Given the description of an element on the screen output the (x, y) to click on. 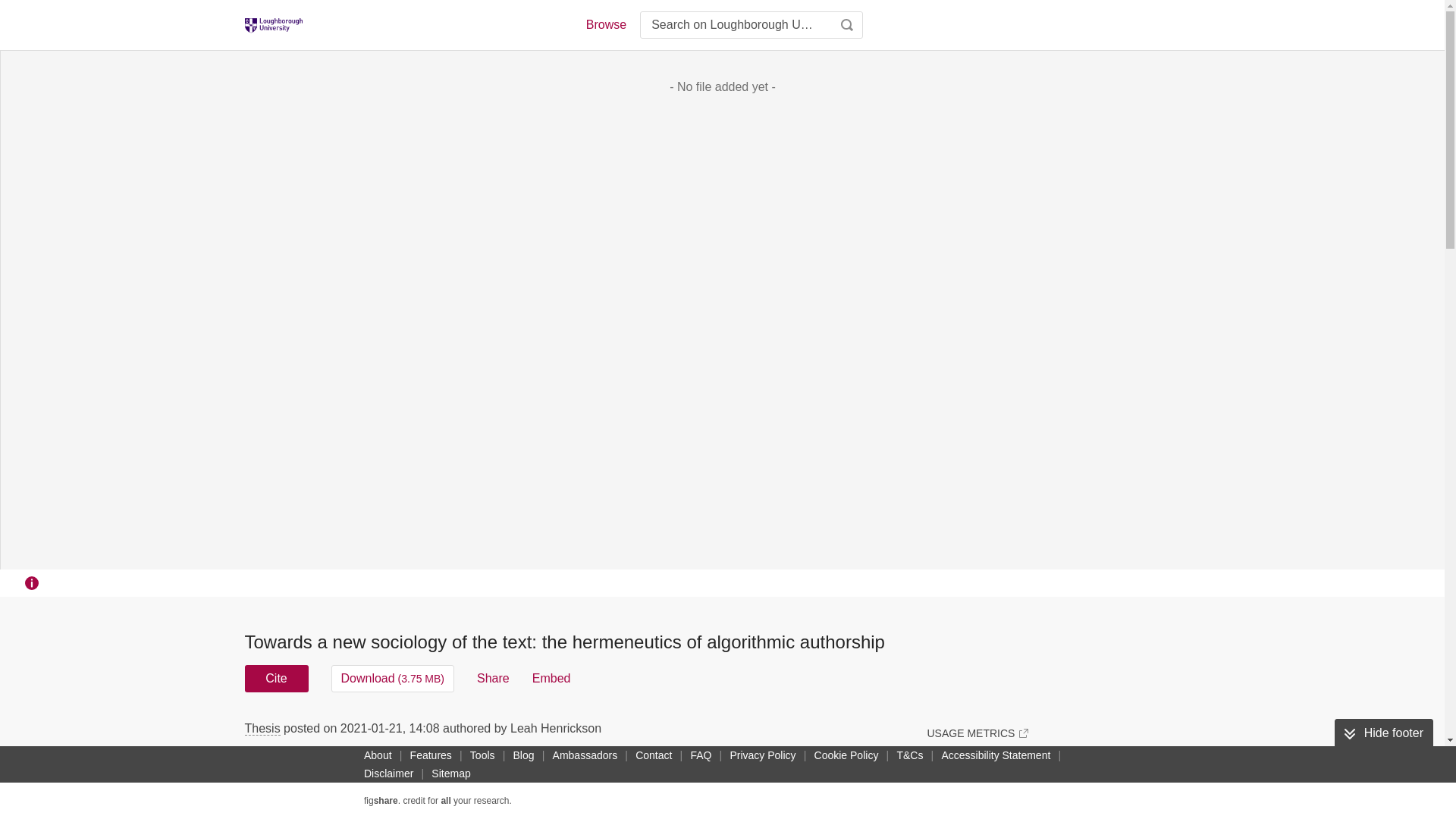
Browse (605, 24)
Share (493, 678)
Embed (551, 678)
Cite (275, 678)
Hide footer (1383, 733)
About (377, 755)
USAGE METRICS (976, 732)
